Given the description of an element on the screen output the (x, y) to click on. 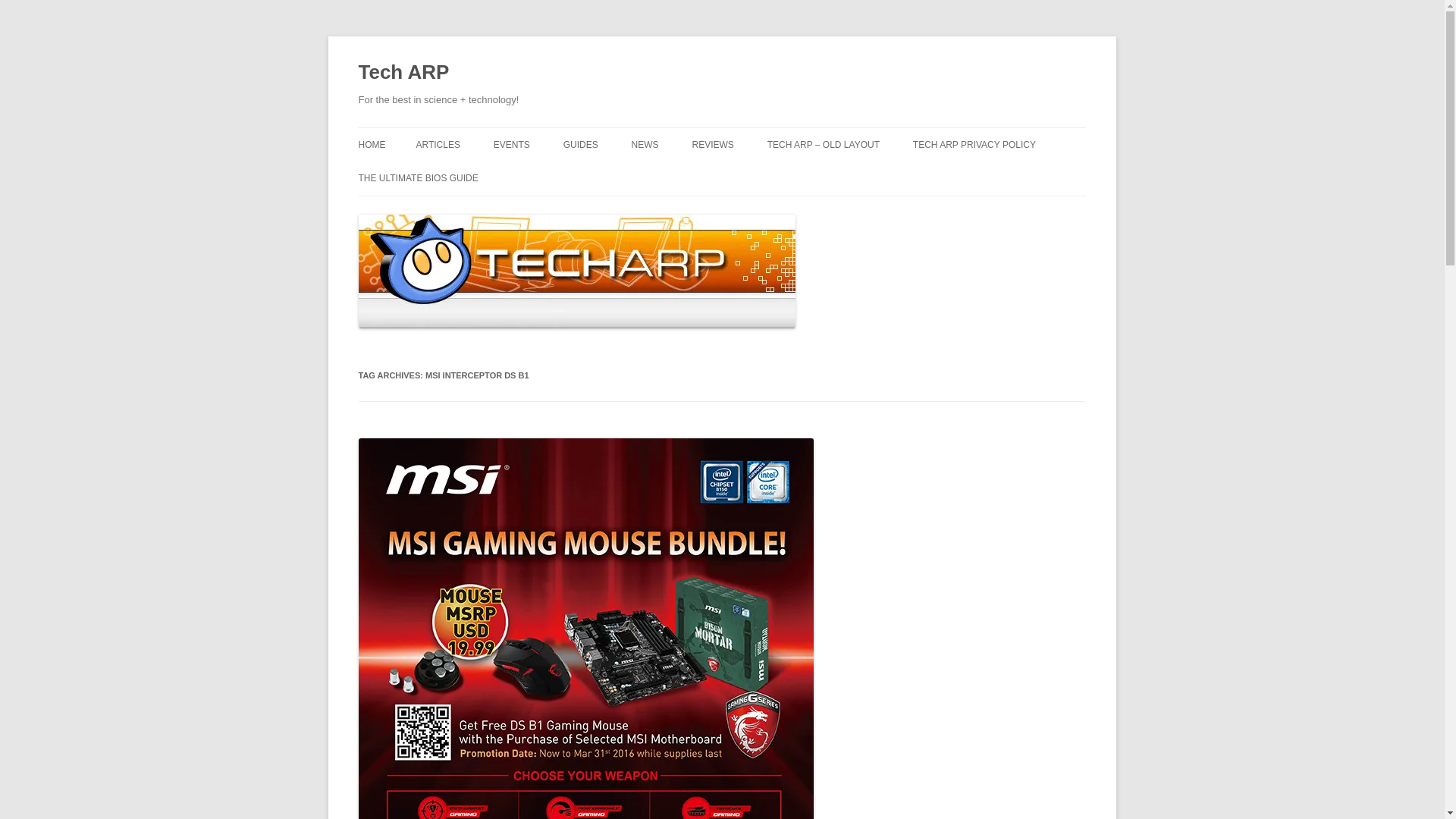
EVENTS (511, 144)
THE ULTIMATE BIOS GUIDE (417, 177)
GUIDES (580, 144)
Tech ARP (403, 72)
TECH ARP PRIVACY POLICY (973, 144)
REVIEWS (712, 144)
ARTICLES (437, 144)
